Given the description of an element on the screen output the (x, y) to click on. 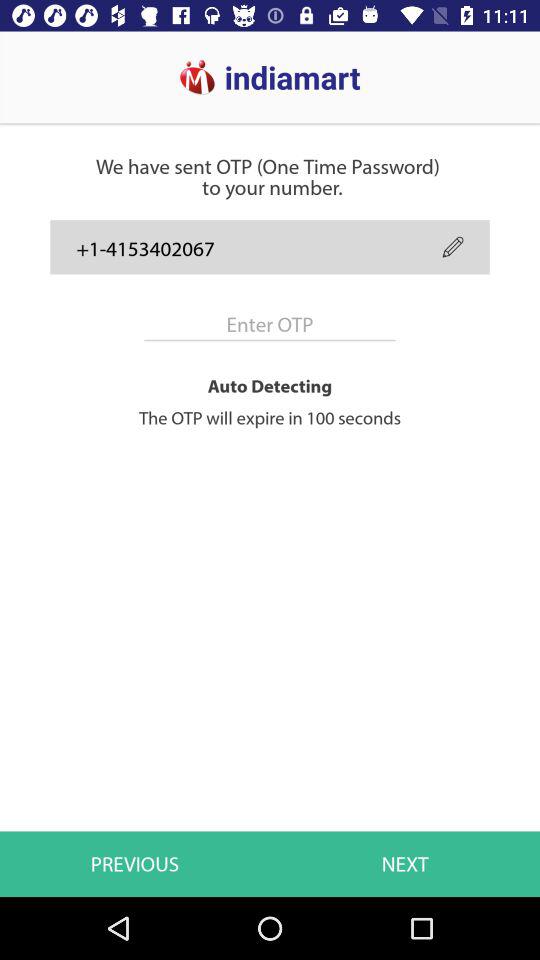
press the item above the auto detecting icon (452, 246)
